Given the description of an element on the screen output the (x, y) to click on. 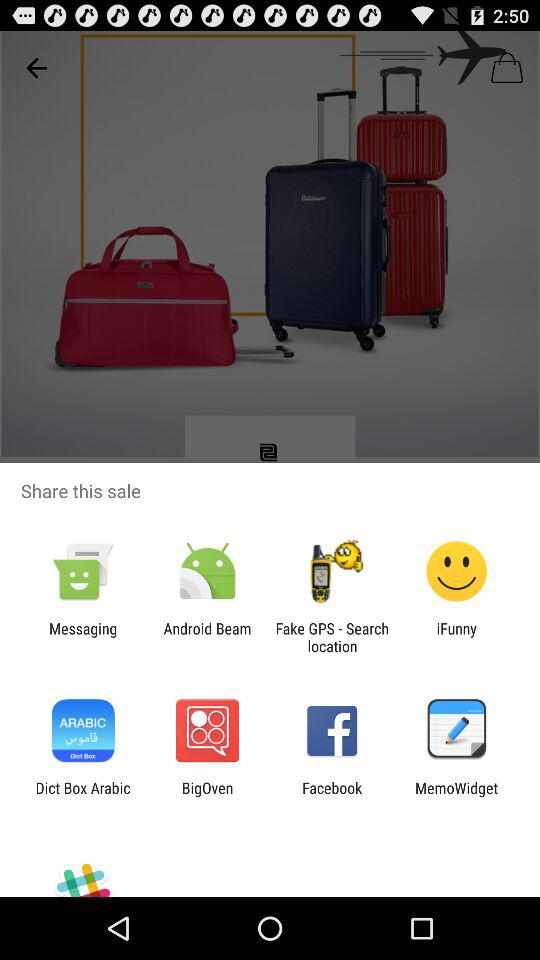
choose icon to the left of ifunny app (332, 637)
